Given the description of an element on the screen output the (x, y) to click on. 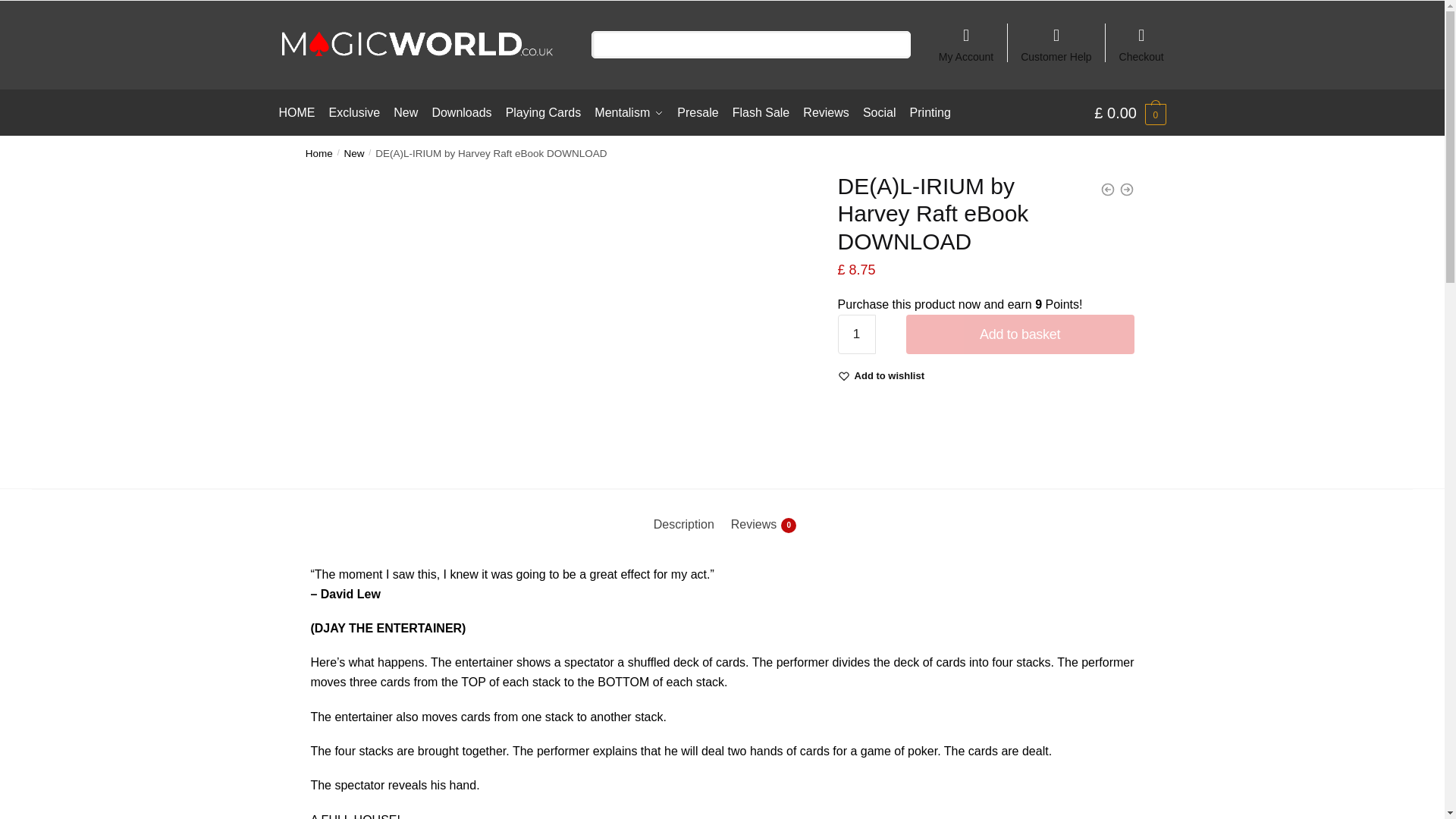
Exclusive (354, 112)
Presale (698, 112)
My Account (966, 37)
New (354, 153)
View your shopping cart (1130, 112)
Reviews (826, 112)
Social (879, 112)
Checkout (1141, 37)
Printing (930, 112)
Customer Help (1055, 37)
